Given the description of an element on the screen output the (x, y) to click on. 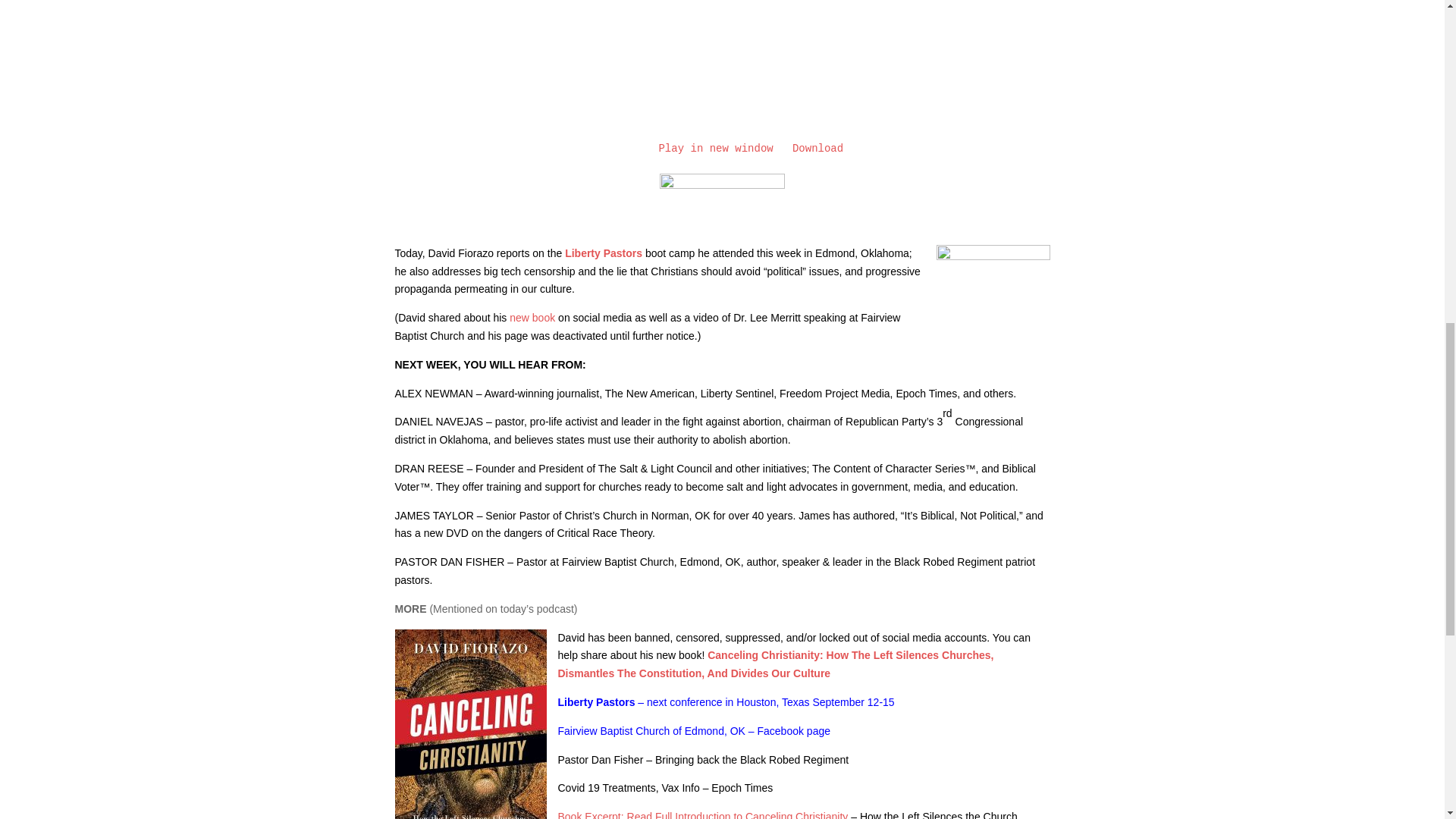
Blubrry Podcast Player (721, 70)
Play in new window (715, 148)
Download (817, 148)
Download (817, 148)
Play in new window (715, 148)
